Given the description of an element on the screen output the (x, y) to click on. 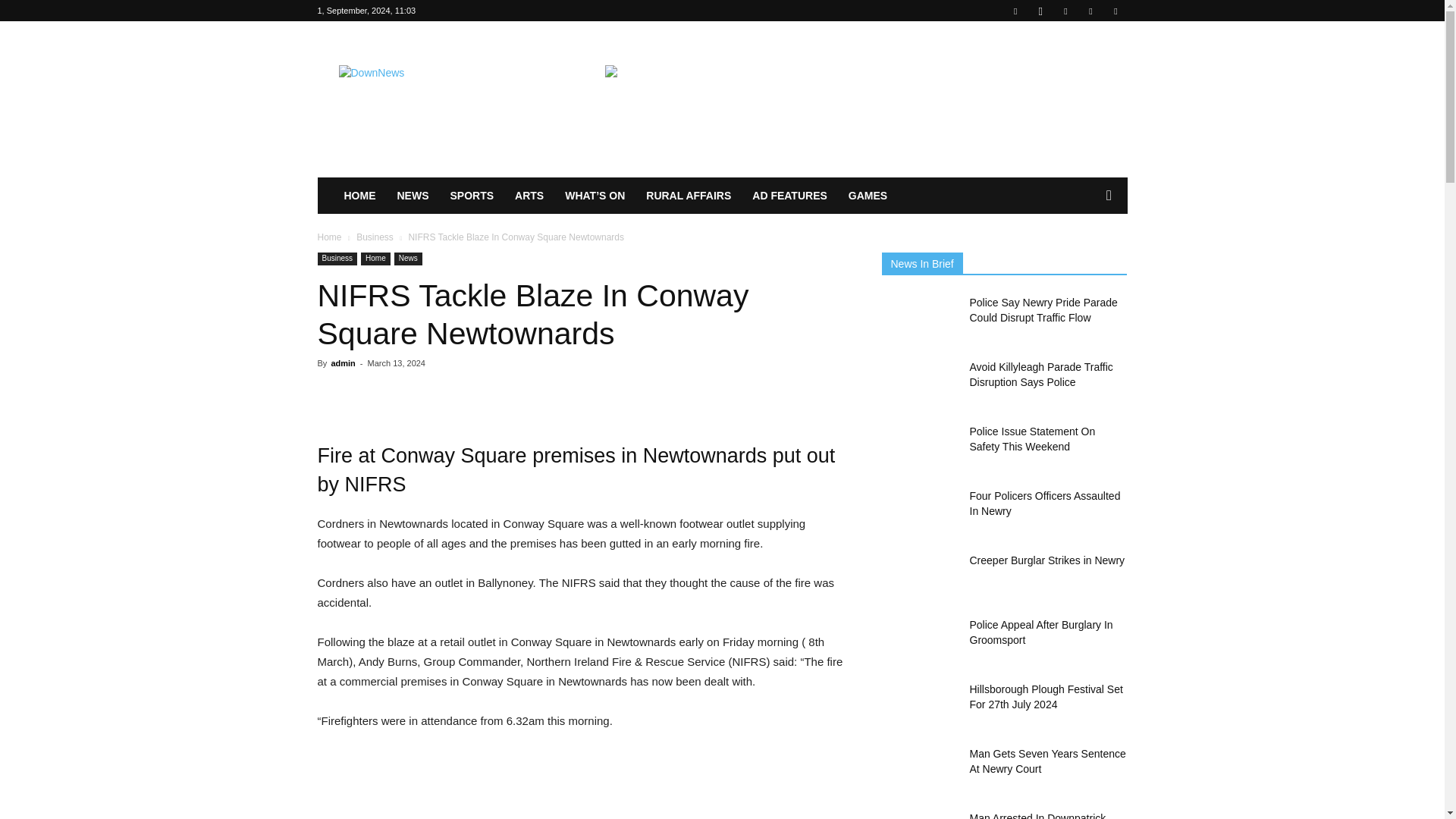
Facebook (1015, 10)
Instagram (1040, 10)
Linkedin (1065, 10)
Youtube (1114, 10)
View all posts in Business (374, 236)
Twitter (1090, 10)
